Given the description of an element on the screen output the (x, y) to click on. 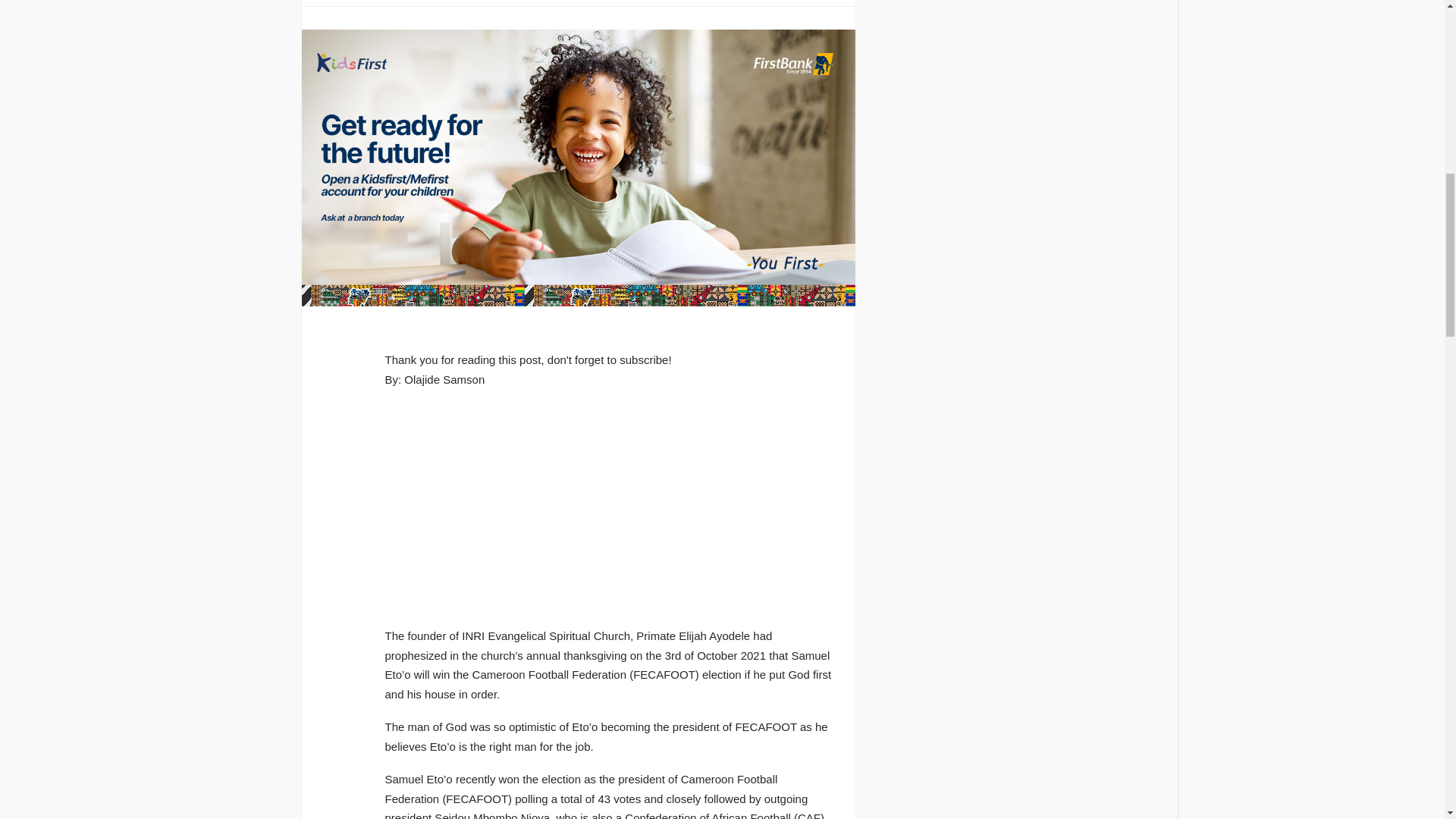
Advertisement (608, 508)
